Given the description of an element on the screen output the (x, y) to click on. 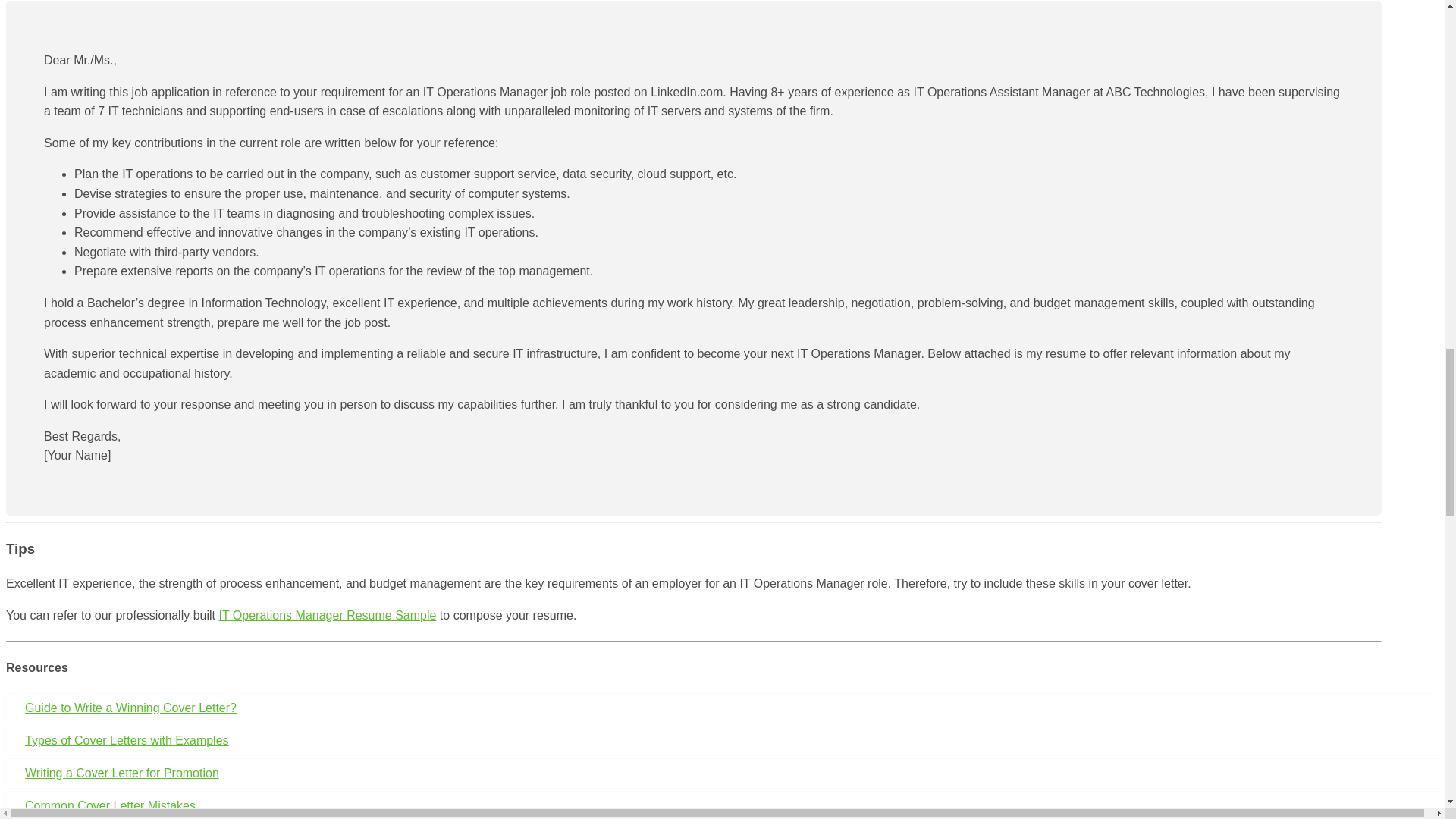
Writing a Cover Letter for Promotion (721, 773)
Cover Letter Guide? (721, 707)
Types of Cover Letters (721, 740)
Common Cover Letter Mistakes (721, 805)
Guide to Write a Winning Cover Letter? (721, 707)
IT Operations Manager Resume Sample (326, 615)
Common Cover Letter Mistakes (721, 805)
Types of Cover Letters with Examples (721, 740)
